Given the description of an element on the screen output the (x, y) to click on. 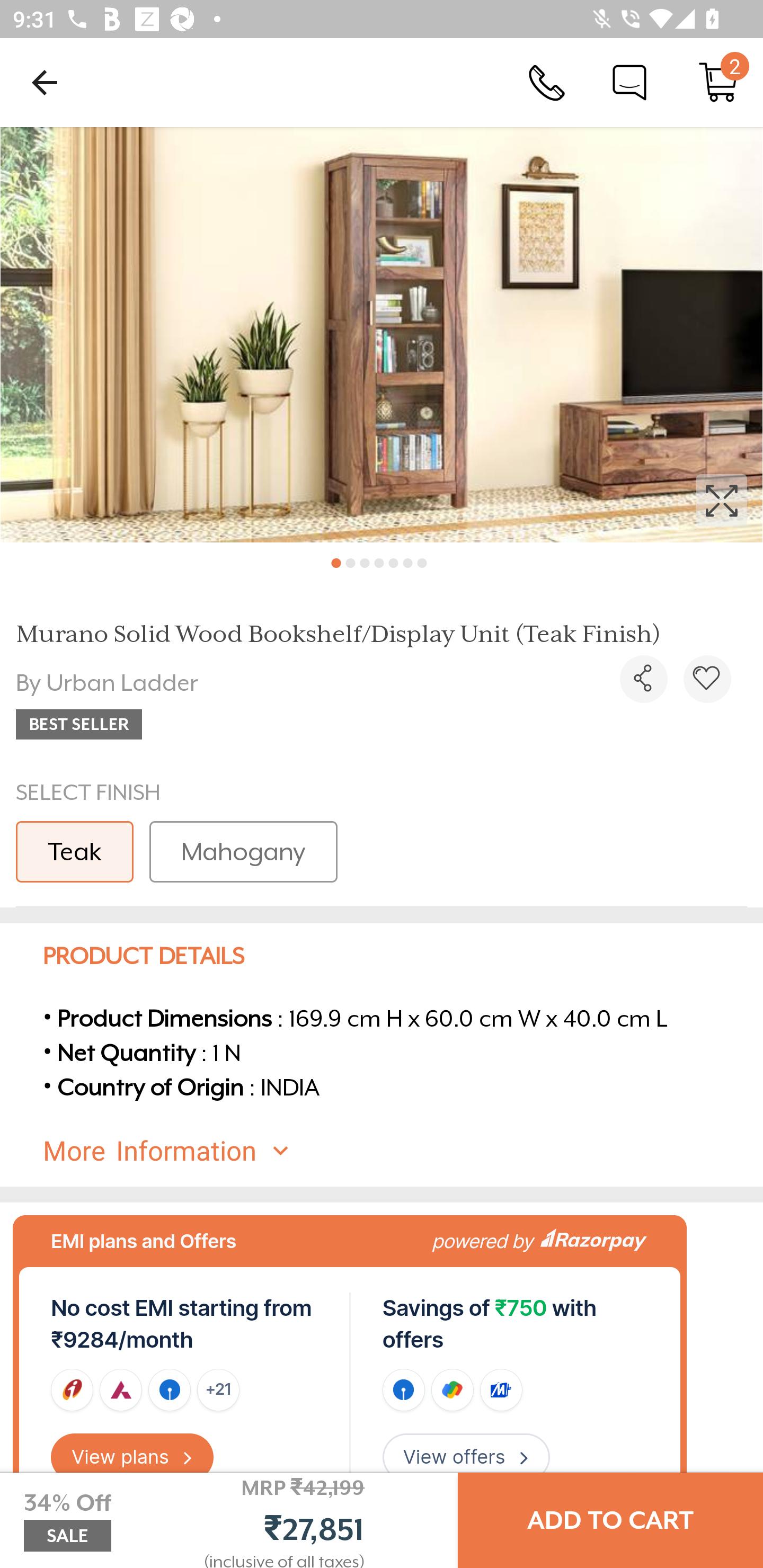
Navigate up (44, 82)
Call Us (546, 81)
Chat (629, 81)
Cart (718, 81)
 (381, 334)
 (643, 678)
 (706, 678)
Teak (74, 851)
Mahogany (243, 851)
More Information  (396, 1151)
View plans (132, 1457)
View offers (465, 1457)
ADD TO CART (610, 1520)
